Given the description of an element on the screen output the (x, y) to click on. 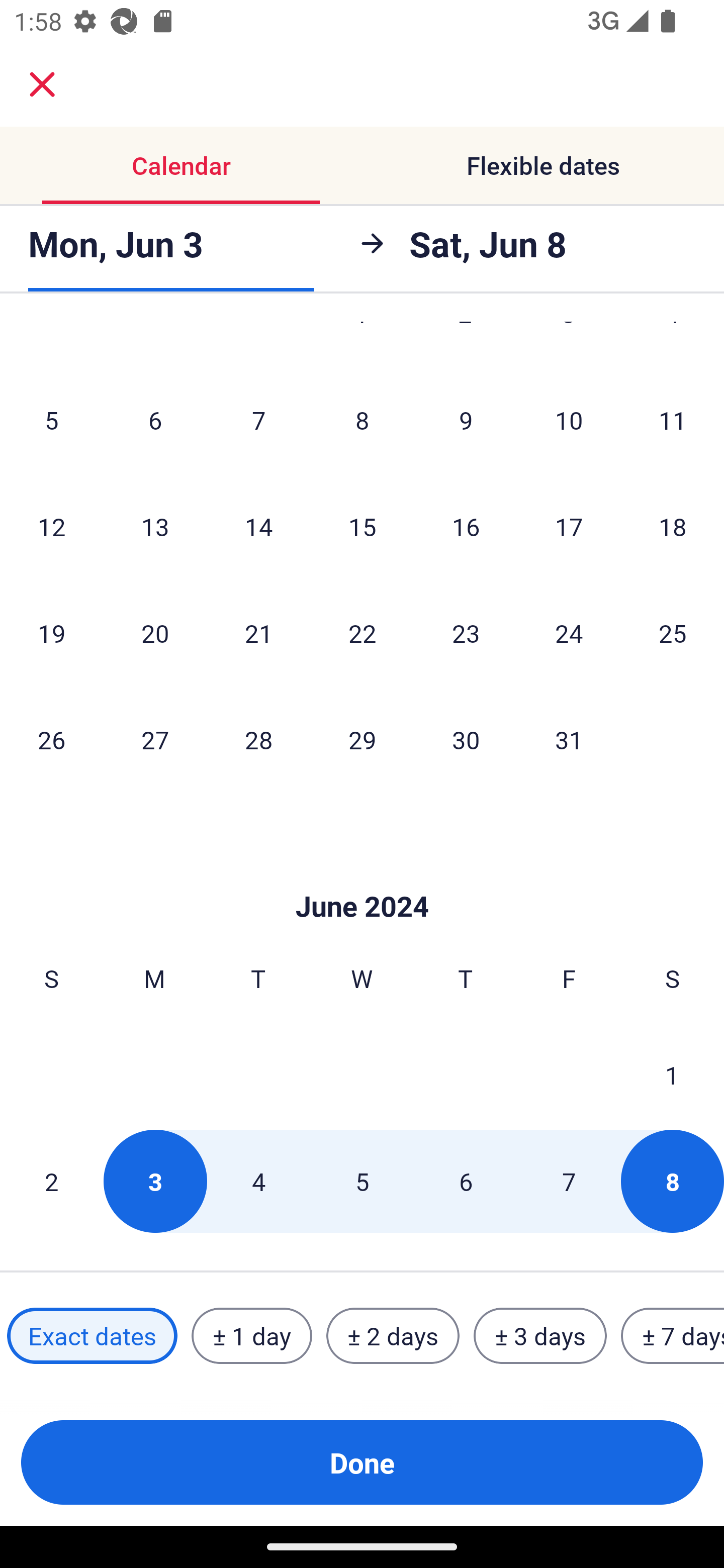
close. (42, 84)
Flexible dates (542, 164)
5 Sunday, May 5, 2024 (51, 419)
6 Monday, May 6, 2024 (155, 419)
7 Tuesday, May 7, 2024 (258, 419)
8 Wednesday, May 8, 2024 (362, 419)
9 Thursday, May 9, 2024 (465, 419)
10 Friday, May 10, 2024 (569, 419)
11 Saturday, May 11, 2024 (672, 419)
12 Sunday, May 12, 2024 (51, 526)
13 Monday, May 13, 2024 (155, 526)
14 Tuesday, May 14, 2024 (258, 526)
15 Wednesday, May 15, 2024 (362, 526)
16 Thursday, May 16, 2024 (465, 526)
17 Friday, May 17, 2024 (569, 526)
18 Saturday, May 18, 2024 (672, 526)
19 Sunday, May 19, 2024 (51, 633)
20 Monday, May 20, 2024 (155, 633)
21 Tuesday, May 21, 2024 (258, 633)
22 Wednesday, May 22, 2024 (362, 633)
23 Thursday, May 23, 2024 (465, 633)
24 Friday, May 24, 2024 (569, 633)
25 Saturday, May 25, 2024 (672, 633)
26 Sunday, May 26, 2024 (51, 739)
27 Monday, May 27, 2024 (155, 739)
28 Tuesday, May 28, 2024 (258, 739)
29 Wednesday, May 29, 2024 (362, 739)
30 Thursday, May 30, 2024 (465, 739)
31 Friday, May 31, 2024 (569, 739)
Skip to Done (362, 876)
1 Saturday, June 1, 2024 (672, 1074)
2 Sunday, June 2, 2024 (51, 1181)
Exact dates (92, 1335)
± 1 day (251, 1335)
± 2 days (392, 1335)
± 3 days (539, 1335)
± 7 days (672, 1335)
Done (361, 1462)
